Given the description of an element on the screen output the (x, y) to click on. 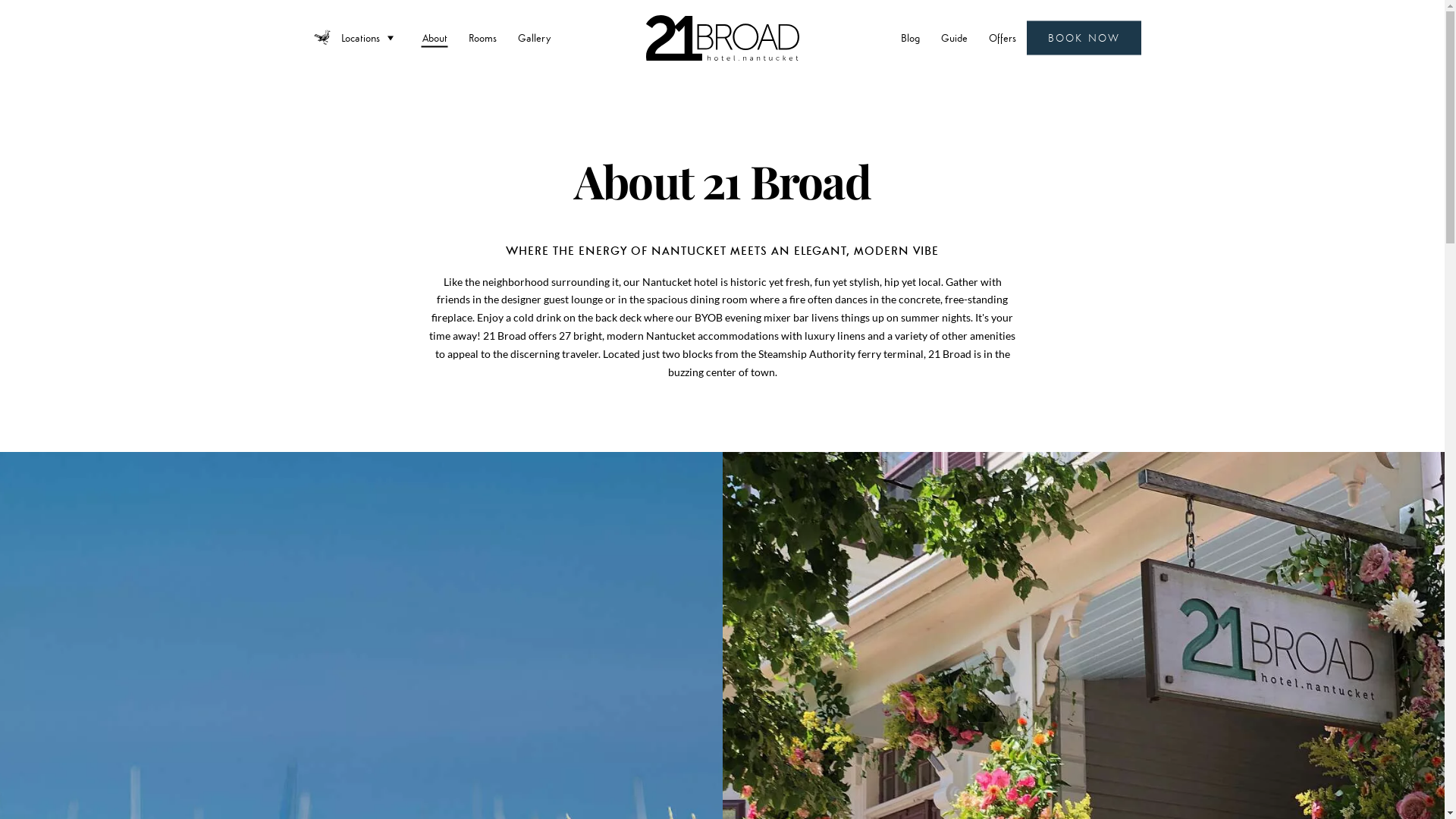
Gallery Element type: text (534, 38)
Blog Element type: text (910, 38)
Offers Element type: text (1002, 38)
About Element type: text (434, 38)
BOOK NOW Element type: text (1083, 38)
Guide Element type: text (954, 38)
Locations Element type: text (370, 38)
Rooms Element type: text (482, 38)
